Given the description of an element on the screen output the (x, y) to click on. 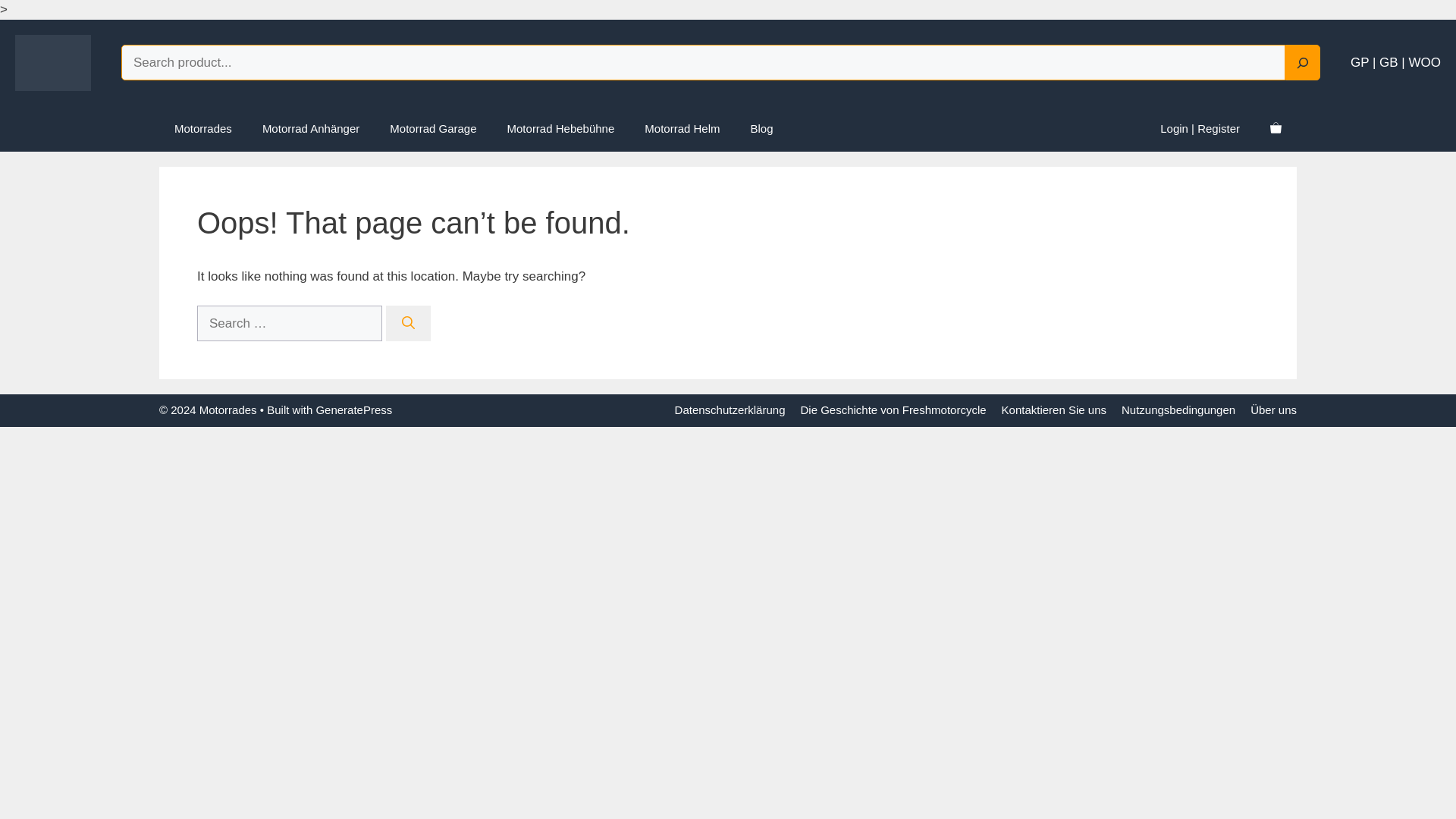
Nutzungsbedingungen (1177, 409)
Die Geschichte von Freshmotorcycle (892, 409)
GeneratePress (353, 409)
Blog (762, 128)
Search for: (288, 322)
Motorrad Garage (433, 128)
Motorrad Helm (681, 128)
View your shopping cart (1276, 128)
Motorrades (202, 128)
Kontaktieren Sie uns (1053, 409)
